Given the description of an element on the screen output the (x, y) to click on. 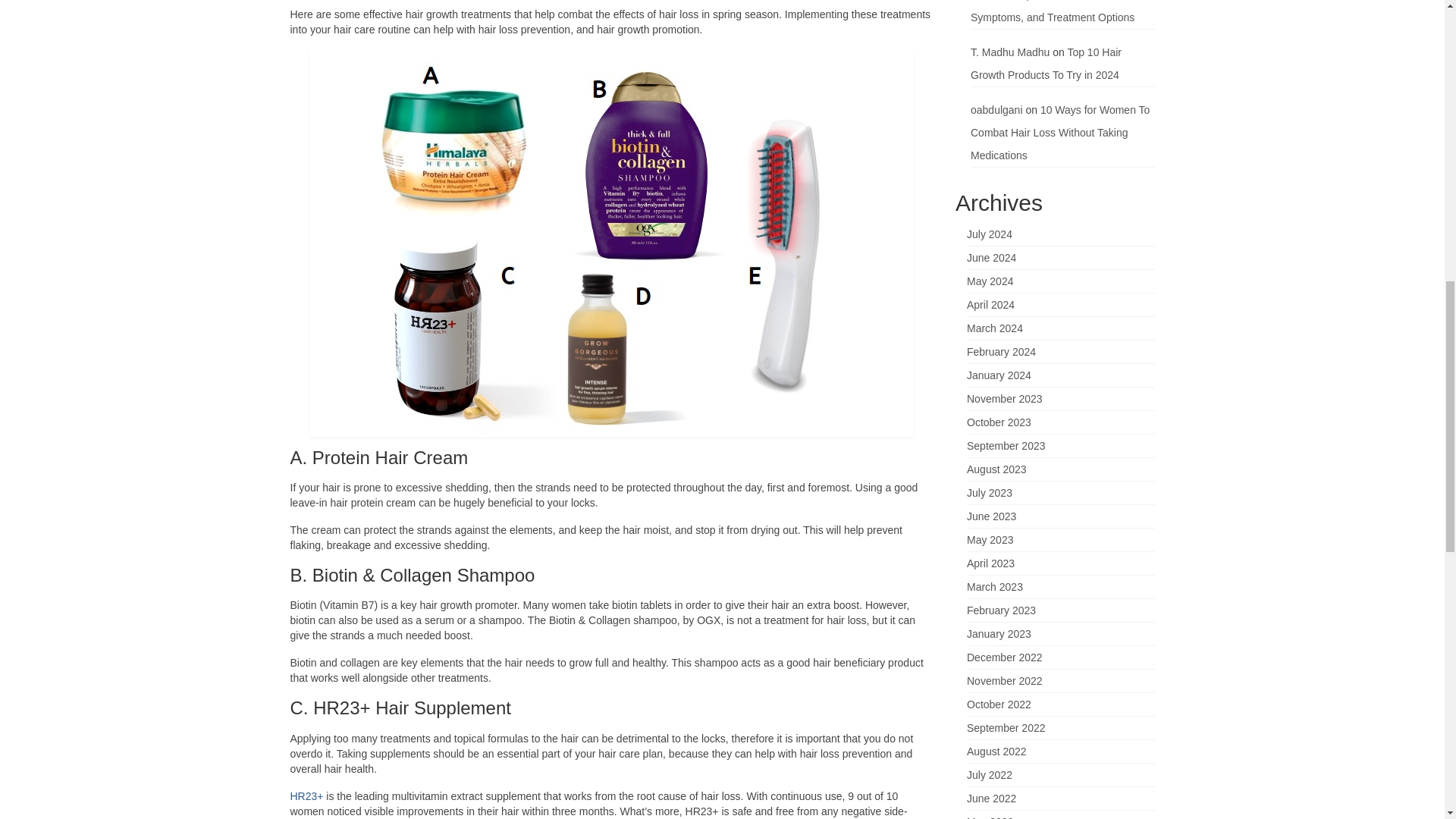
Top 10 Hair Growth Products To Try in 2024 (1046, 63)
July 2023 (988, 492)
November 2023 (1004, 398)
October 2023 (998, 422)
April 2024 (990, 304)
July 2024 (988, 234)
June 2024 (991, 257)
June 2023 (991, 516)
August 2023 (996, 469)
February 2024 (1000, 351)
January 2024 (998, 375)
oabdulgani (997, 110)
T. Madhu Madhu (1010, 51)
